Given the description of an element on the screen output the (x, y) to click on. 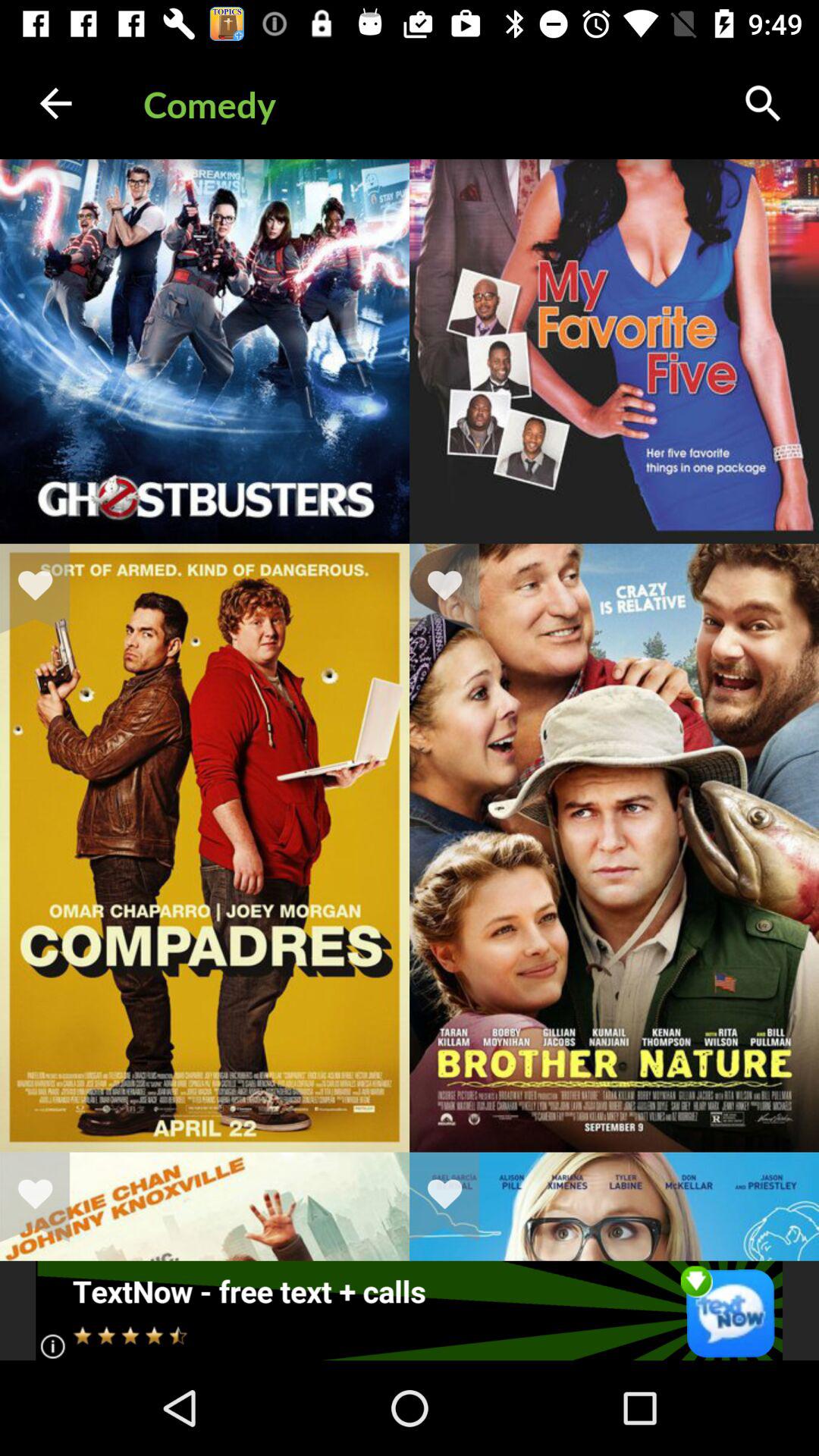
add to favorites (44, 1197)
